Given the description of an element on the screen output the (x, y) to click on. 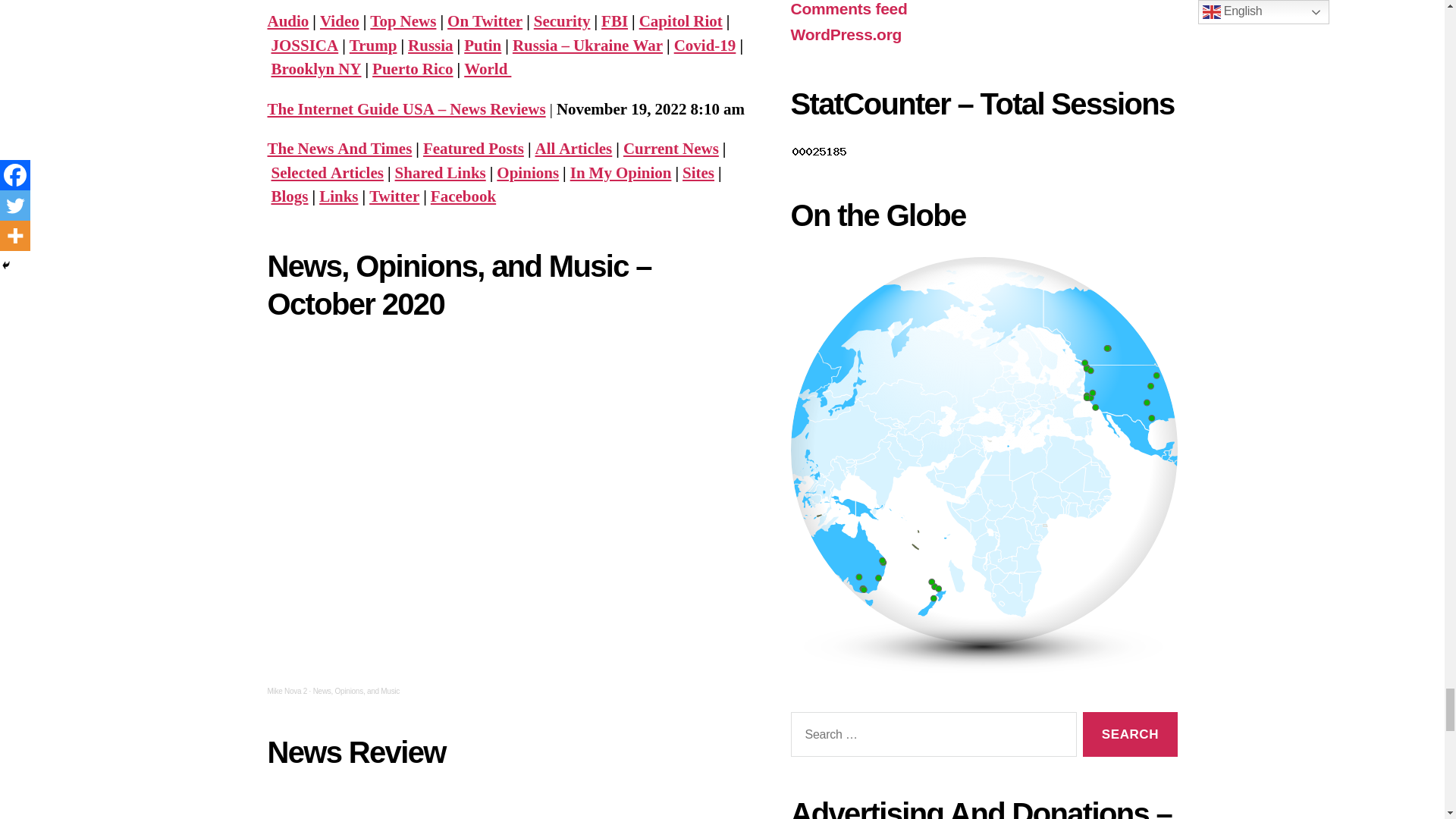
Search (1129, 733)
Search (1129, 733)
